Given the description of an element on the screen output the (x, y) to click on. 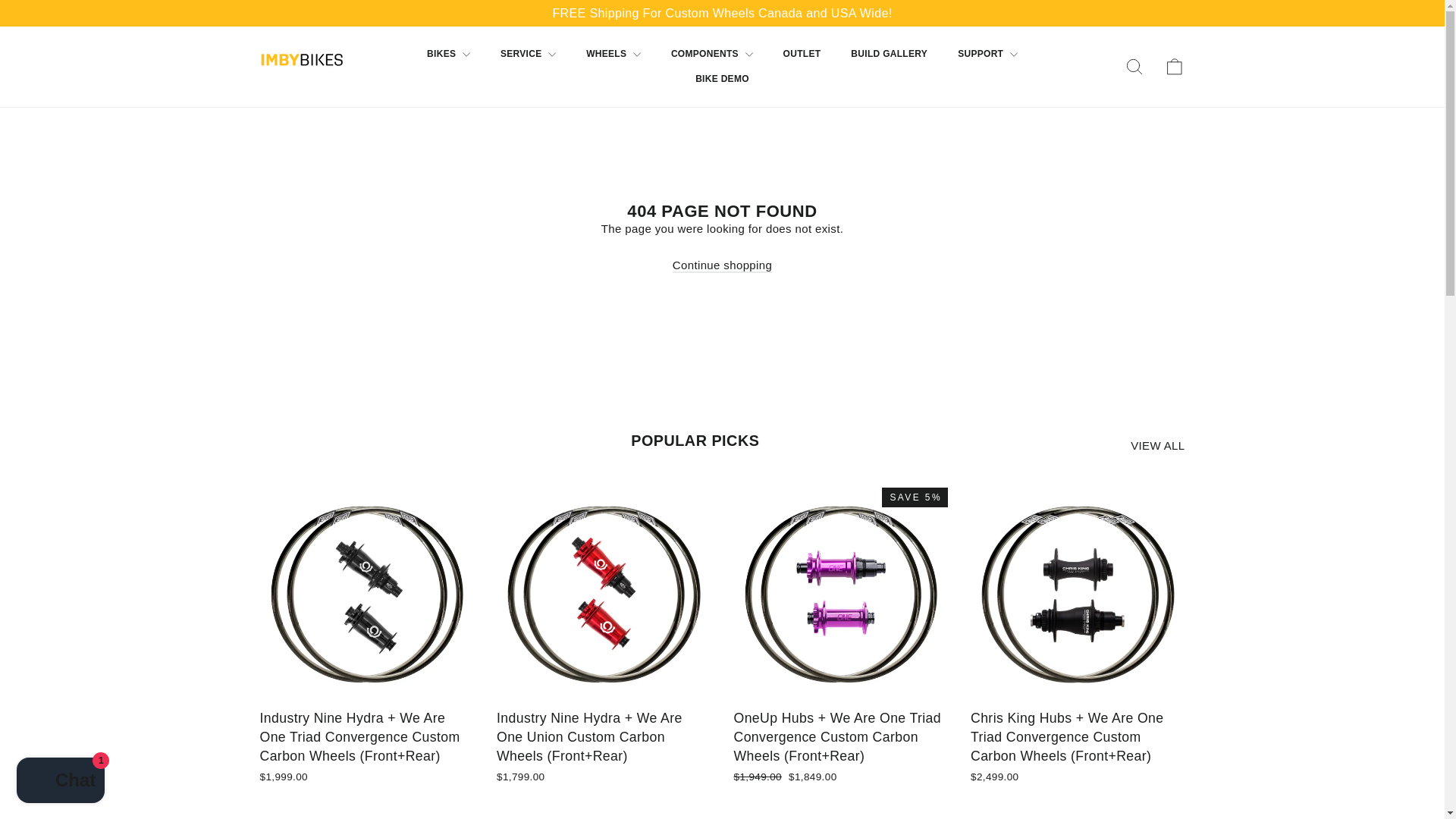
Shopify online store chat (60, 781)
ICON-SEARCH (1134, 66)
ICON-BAG-MINIMAL (1174, 66)
